Given the description of an element on the screen output the (x, y) to click on. 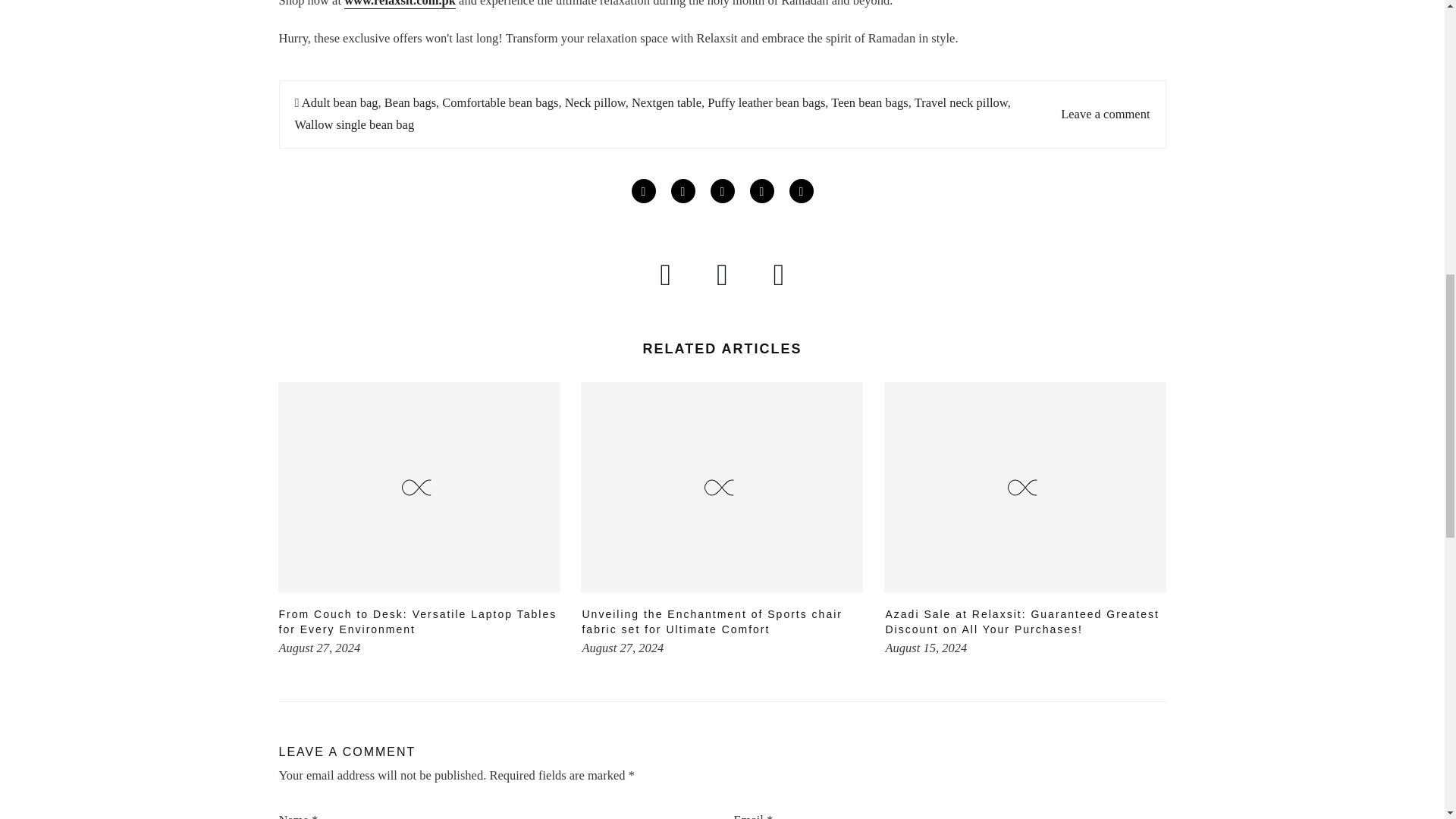
Wallow single bean bag (353, 124)
Nextgen table (666, 102)
Adult bean bag (339, 102)
Bean bags (409, 102)
Neck pillow (595, 102)
Teen bean bags (869, 102)
Comfortable bean bags (499, 102)
Travel neck pillow (960, 102)
Puffy leather bean bags (766, 102)
